Given the description of an element on the screen output the (x, y) to click on. 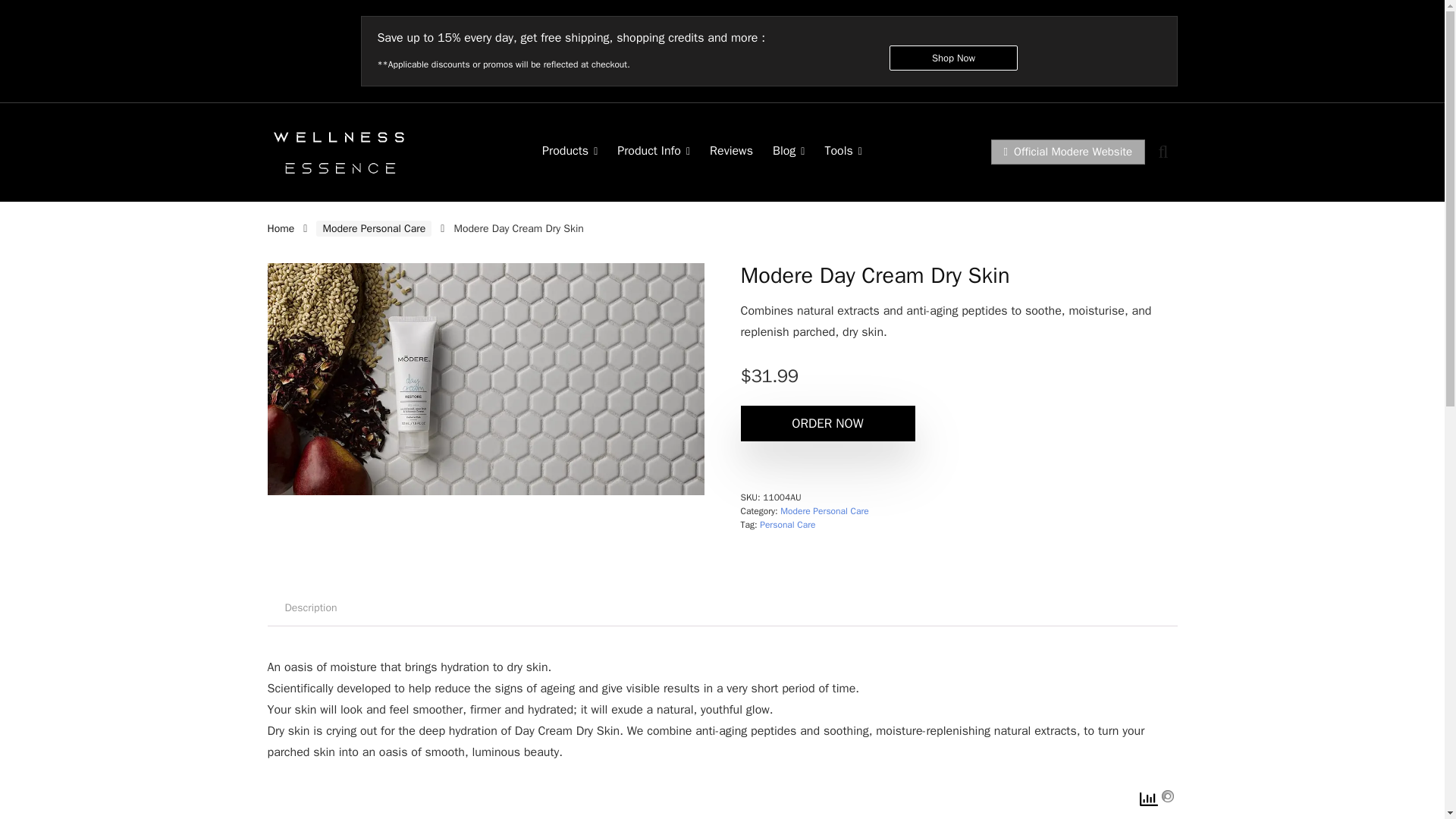
Shop Now (953, 57)
Reviews (731, 152)
ORDER NOW (826, 423)
Description (309, 607)
Modere Personal Care (372, 228)
Blog (787, 152)
Official Modere Website (1068, 151)
Personal Care (787, 524)
Modere Personal Care (823, 510)
Tools (842, 152)
Products (569, 152)
Product Info (653, 152)
Home (280, 228)
